Given the description of an element on the screen output the (x, y) to click on. 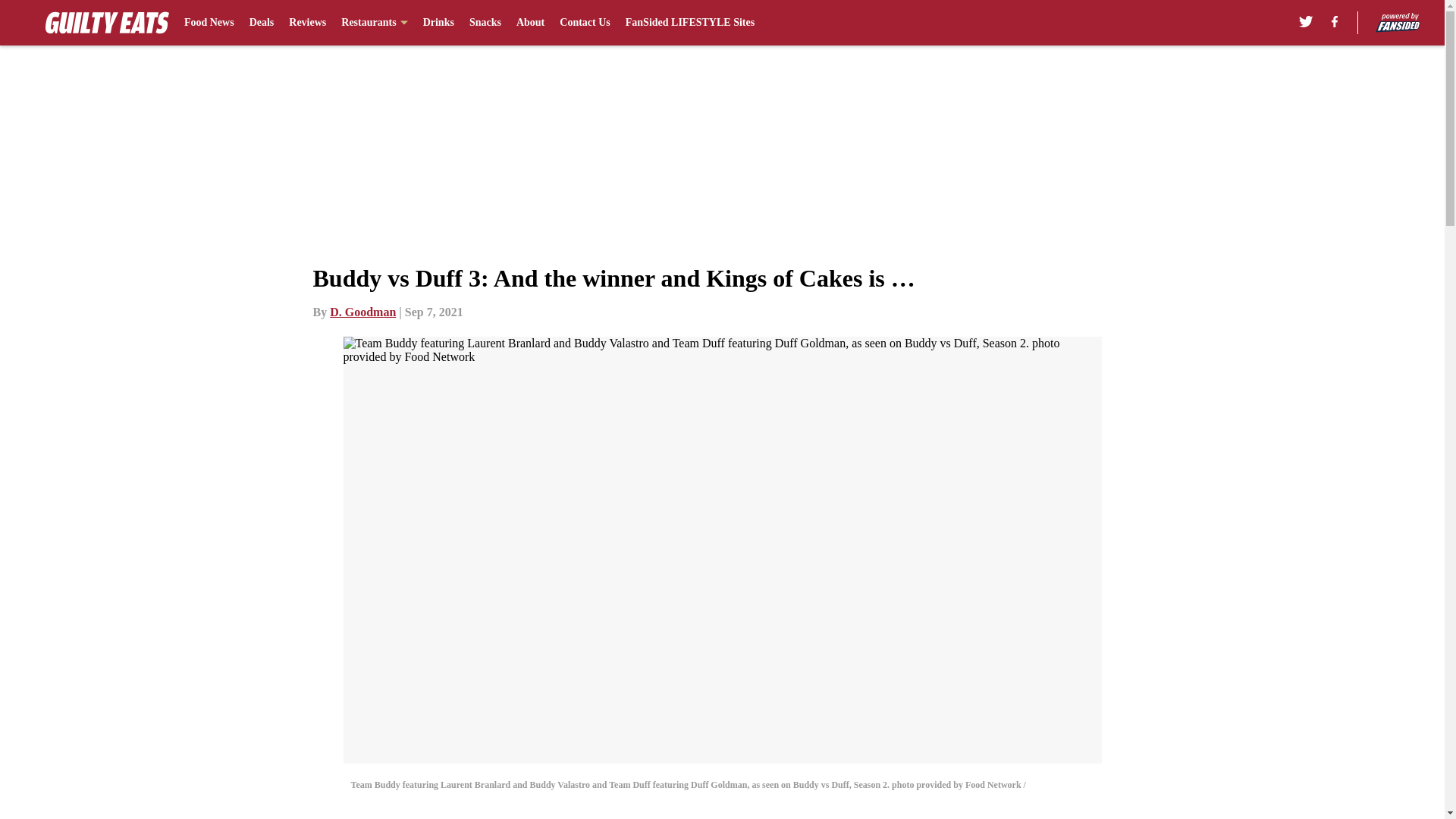
Reviews (307, 22)
Drinks (438, 22)
D. Goodman (363, 311)
Snacks (484, 22)
Food News (209, 22)
Restaurants (373, 22)
FanSided LIFESTYLE Sites (690, 22)
About (530, 22)
Deals (261, 22)
